Given the description of an element on the screen output the (x, y) to click on. 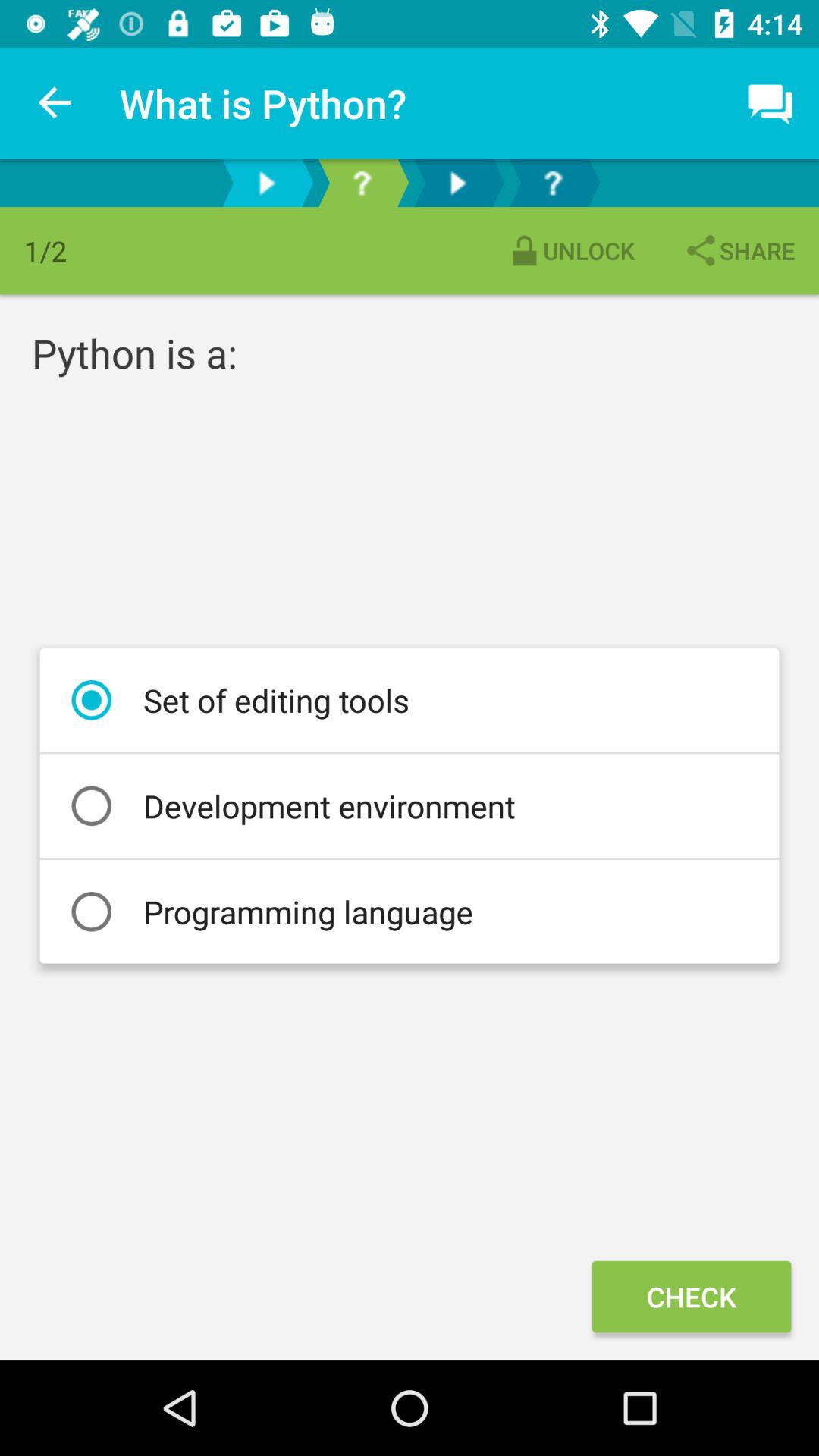
choose icon above set of editing item (570, 250)
